Given the description of an element on the screen output the (x, y) to click on. 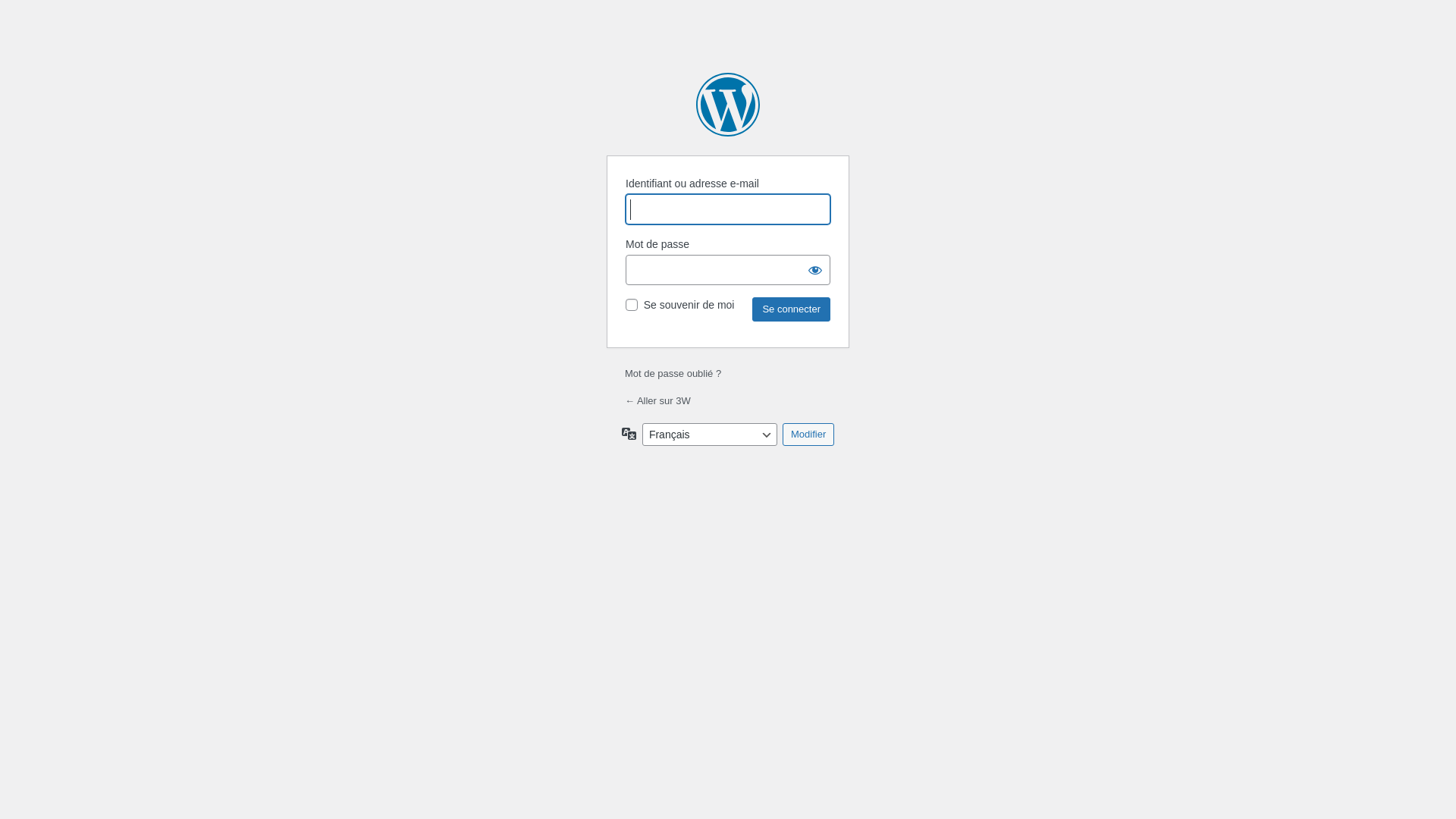
Se connecter Element type: text (791, 309)
Modifier Element type: text (808, 434)
